Given the description of an element on the screen output the (x, y) to click on. 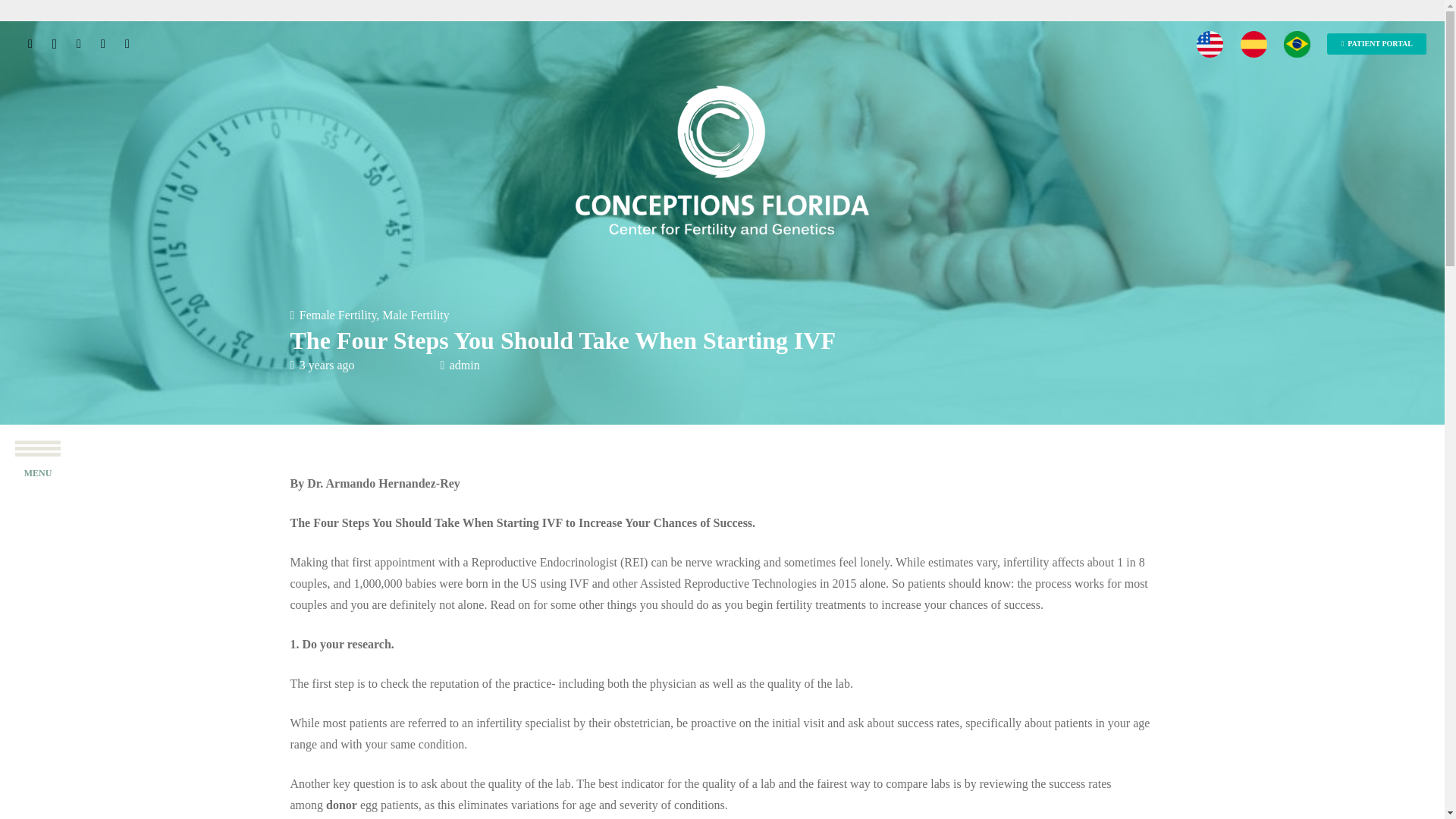
Pinterest (102, 43)
Instagram (54, 43)
YouTube (127, 43)
LinkedIn (78, 43)
PATIENT PORTAL (1376, 43)
Facebook (29, 43)
